Given the description of an element on the screen output the (x, y) to click on. 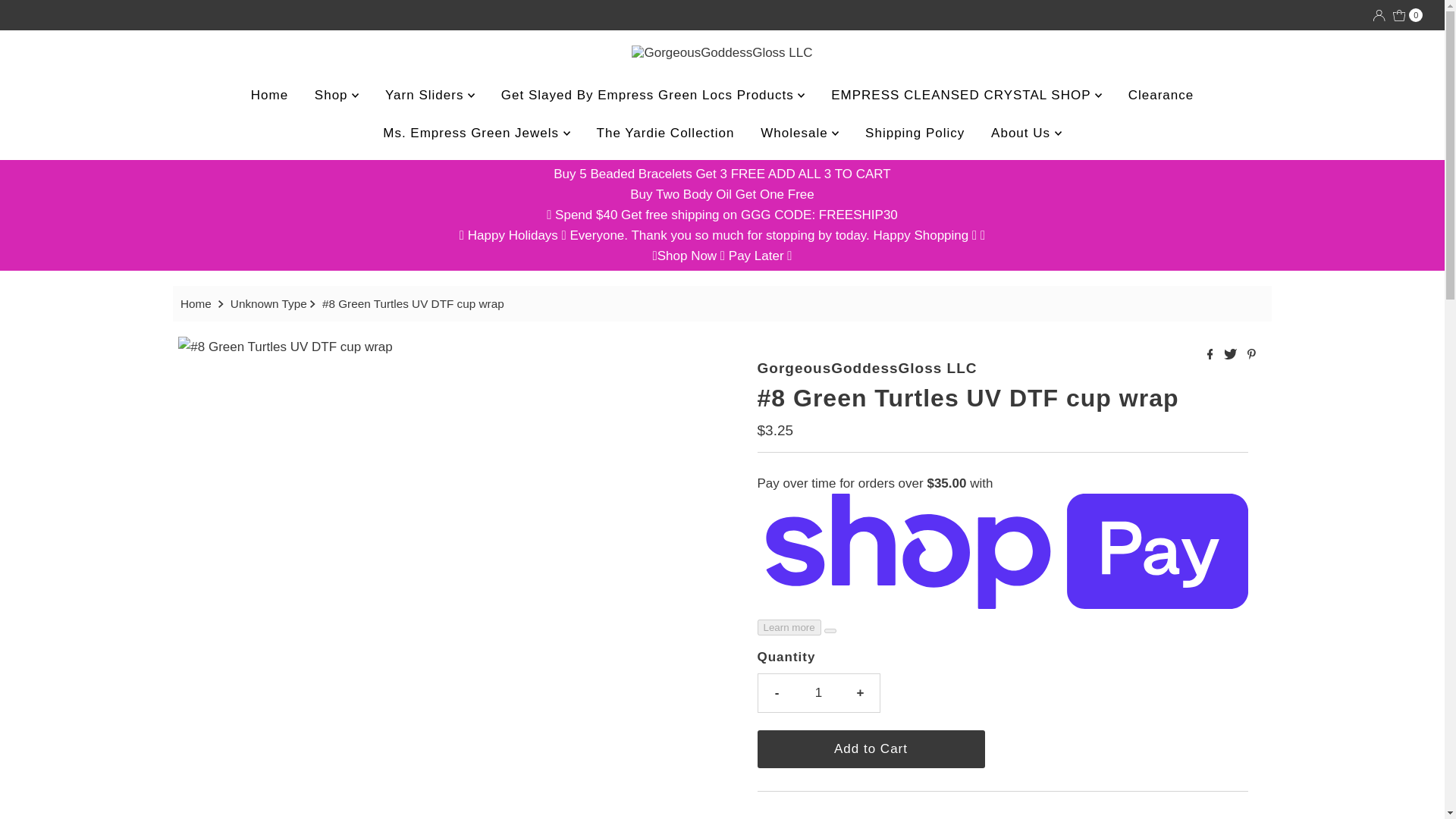
Back to the frontpage (197, 303)
Share on Twitter (1232, 354)
1 (818, 692)
Add to Cart (870, 749)
